Given the description of an element on the screen output the (x, y) to click on. 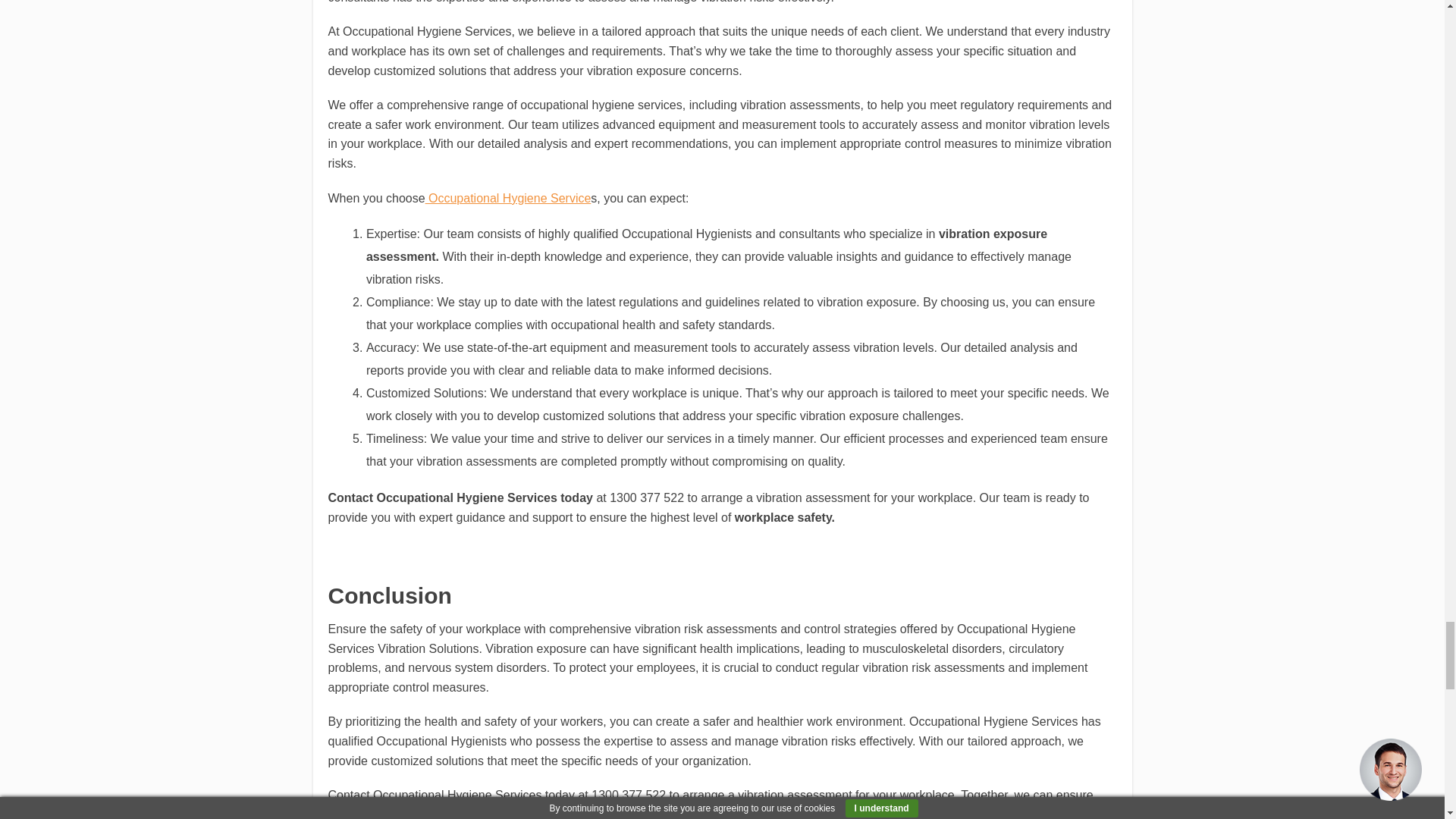
Occupational Hygiene Service (508, 197)
